Given the description of an element on the screen output the (x, y) to click on. 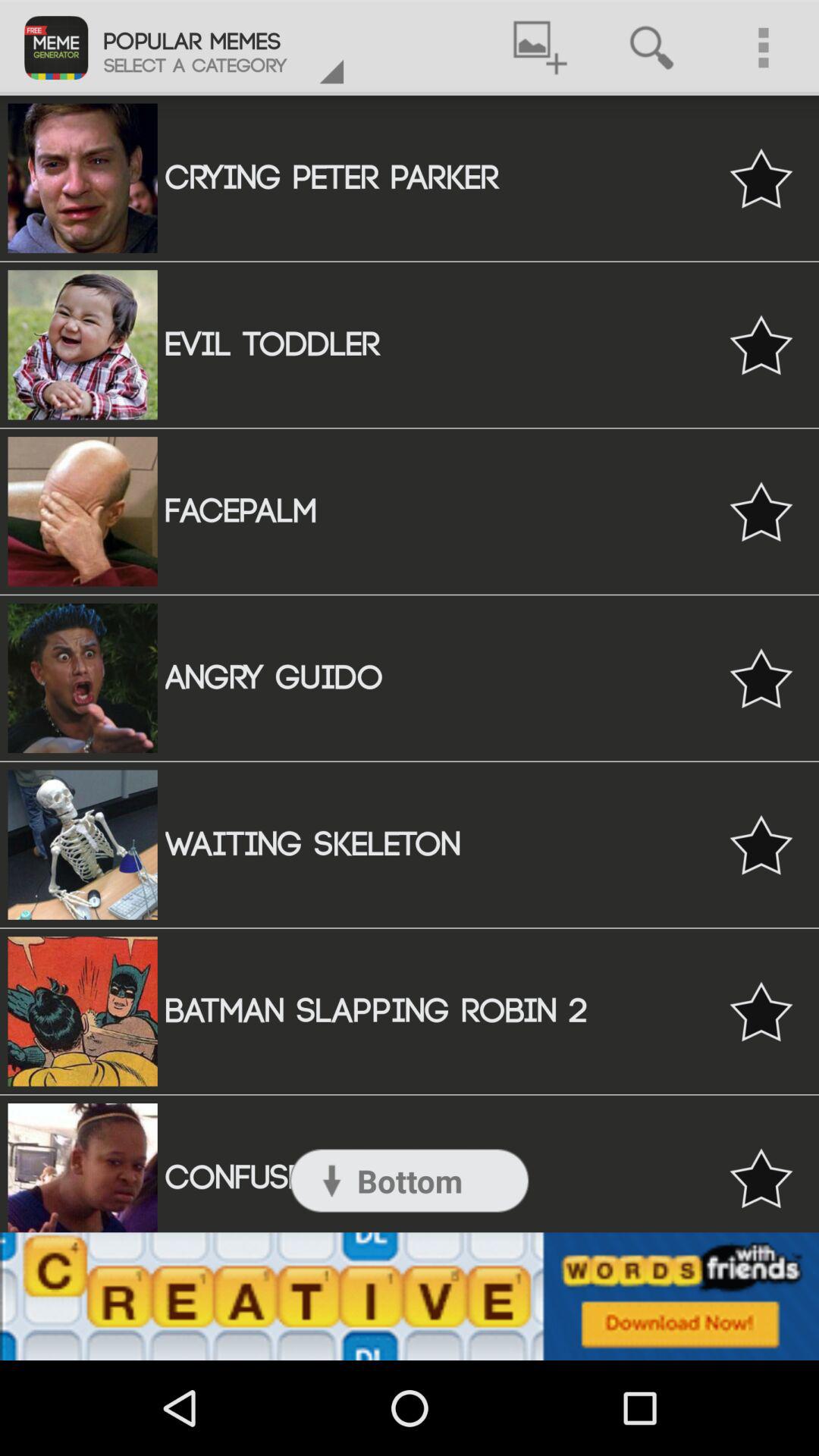
favorite this meme (761, 511)
